Given the description of an element on the screen output the (x, y) to click on. 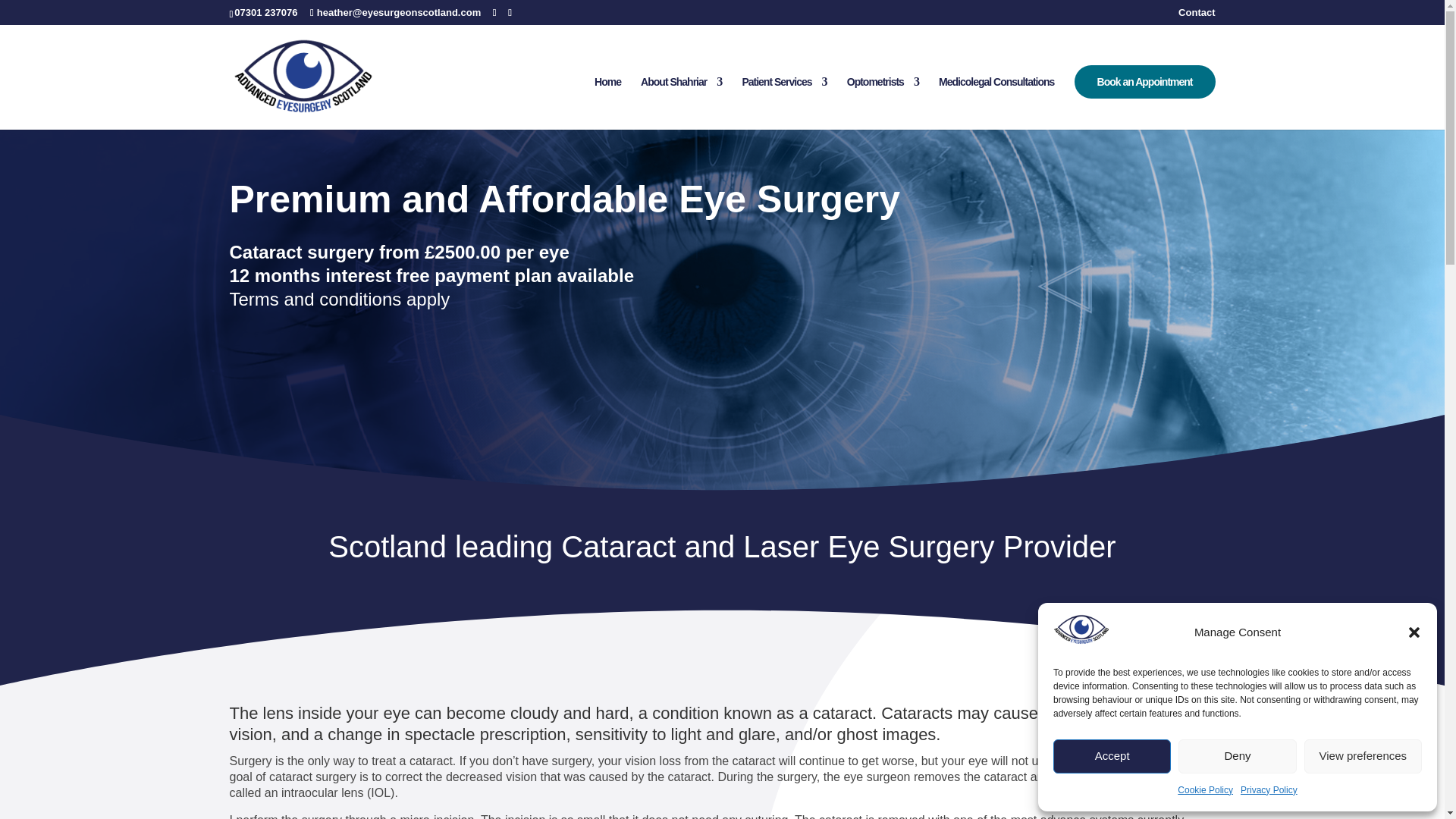
Accept (1111, 755)
Cookie Policy (1205, 790)
Optometrists (882, 102)
Medicolegal Consultations (996, 102)
About Shahriar (681, 102)
View preferences (1363, 755)
Contact (1195, 16)
Deny (1236, 755)
Privacy Policy (1268, 790)
Book an Appointment (1144, 81)
